Given the description of an element on the screen output the (x, y) to click on. 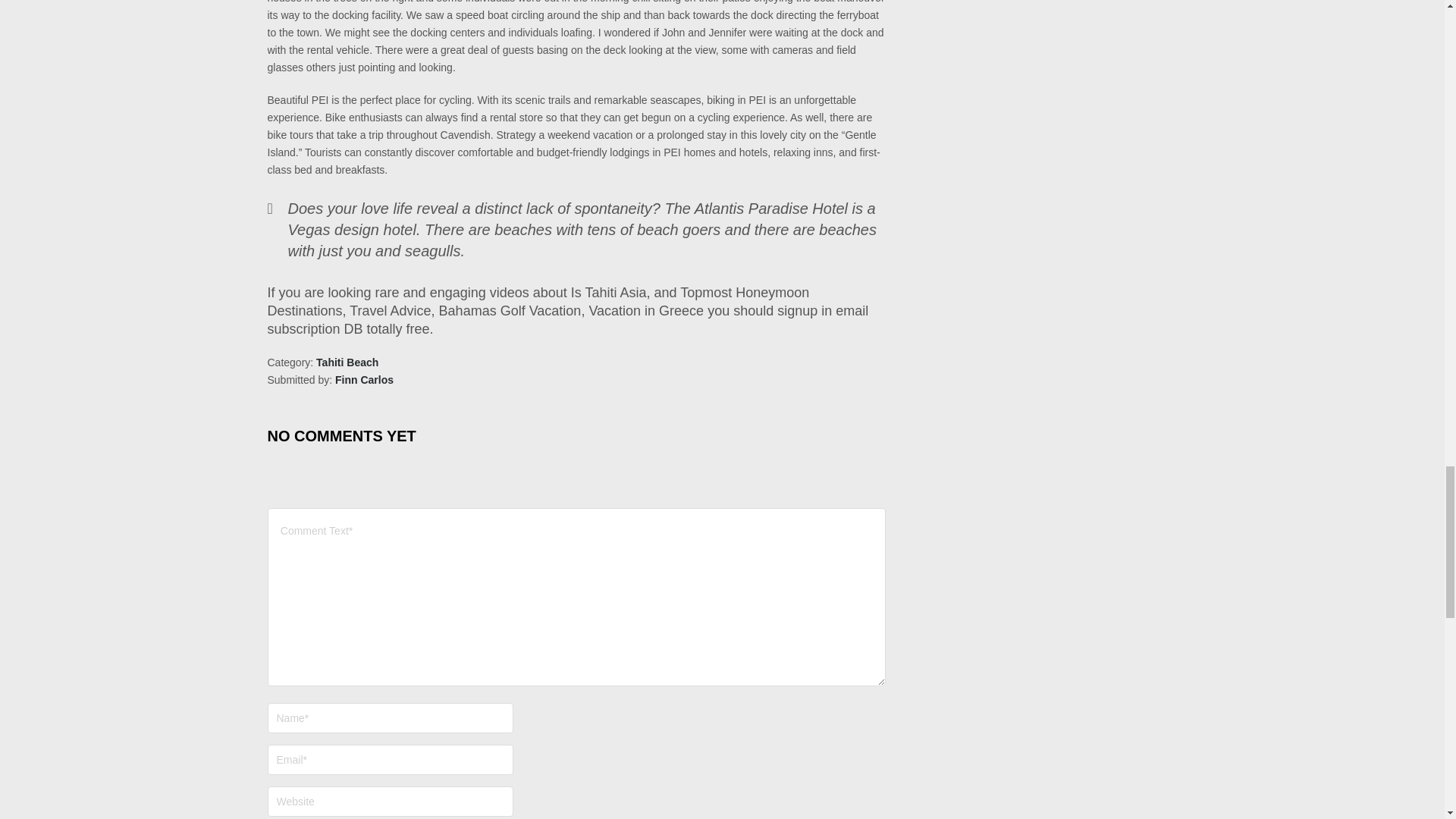
Finn Carlos (363, 379)
Tahiti Beach (346, 362)
NO COMMENTS YET (340, 431)
